Given the description of an element on the screen output the (x, y) to click on. 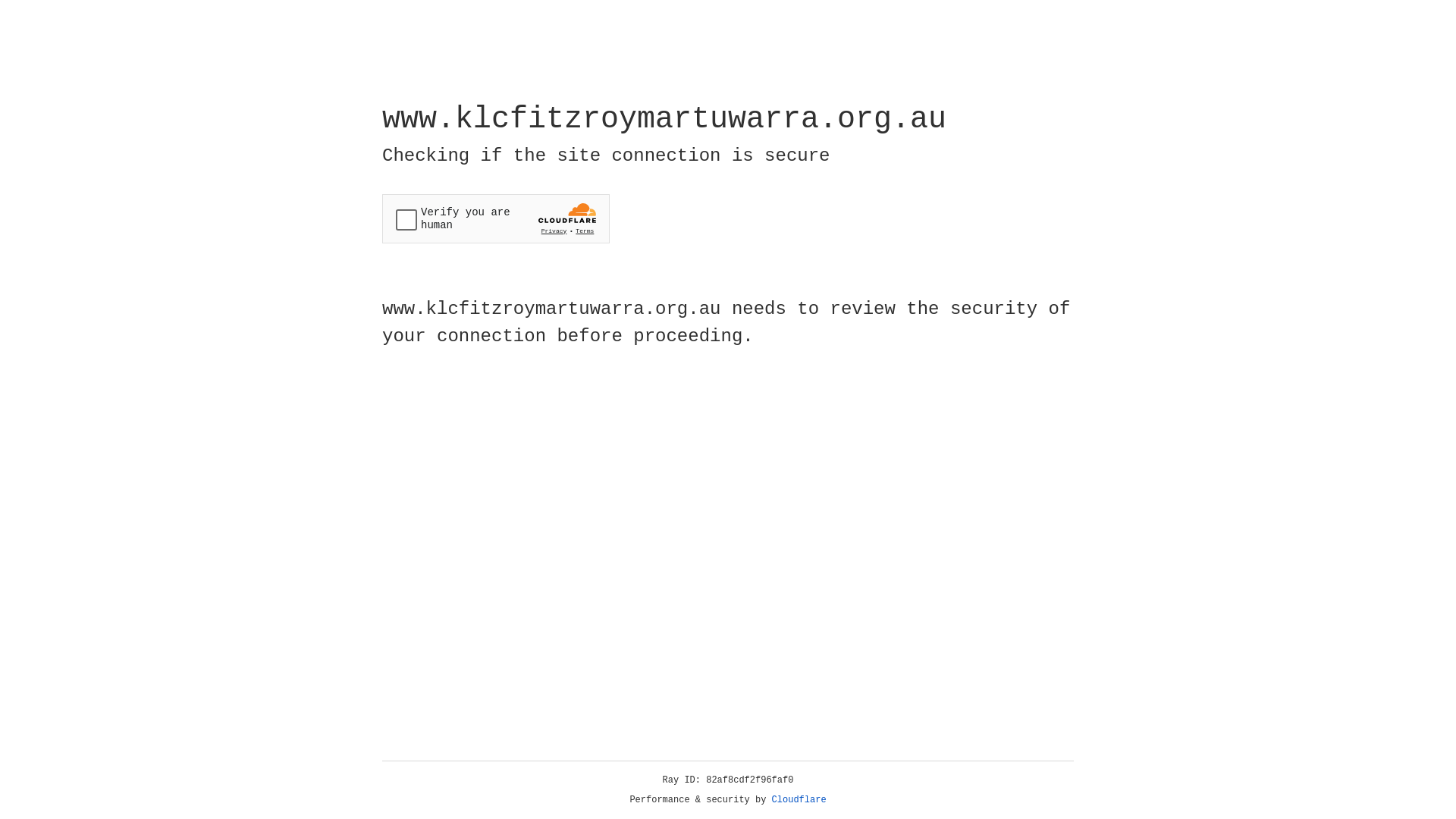
Cloudflare Element type: text (798, 799)
Widget containing a Cloudflare security challenge Element type: hover (495, 218)
